Given the description of an element on the screen output the (x, y) to click on. 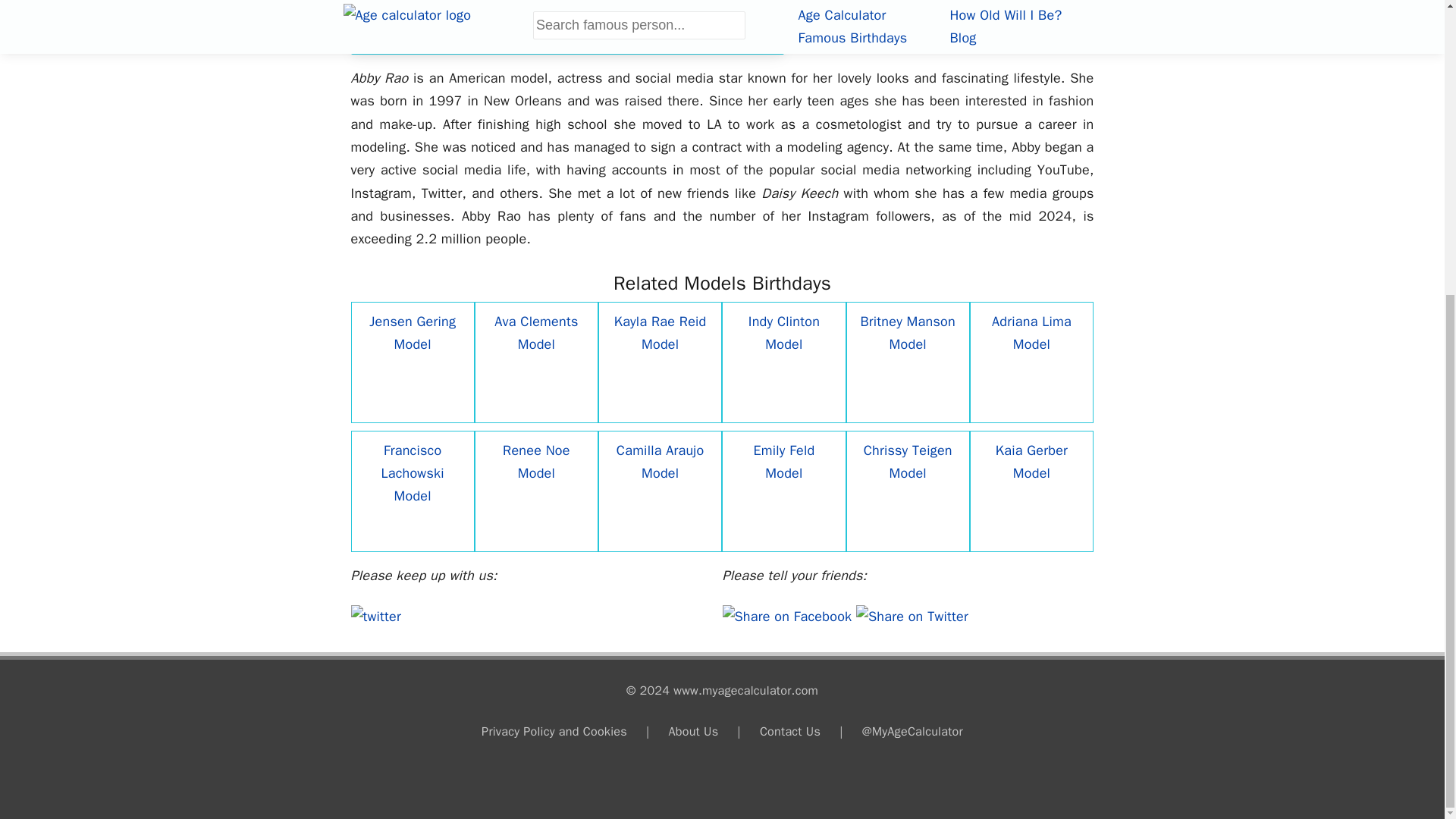
Privacy Policy and Cookies (554, 730)
About Us (692, 730)
My Age Calculator Twitter (375, 616)
Contact Us (790, 730)
